Given the description of an element on the screen output the (x, y) to click on. 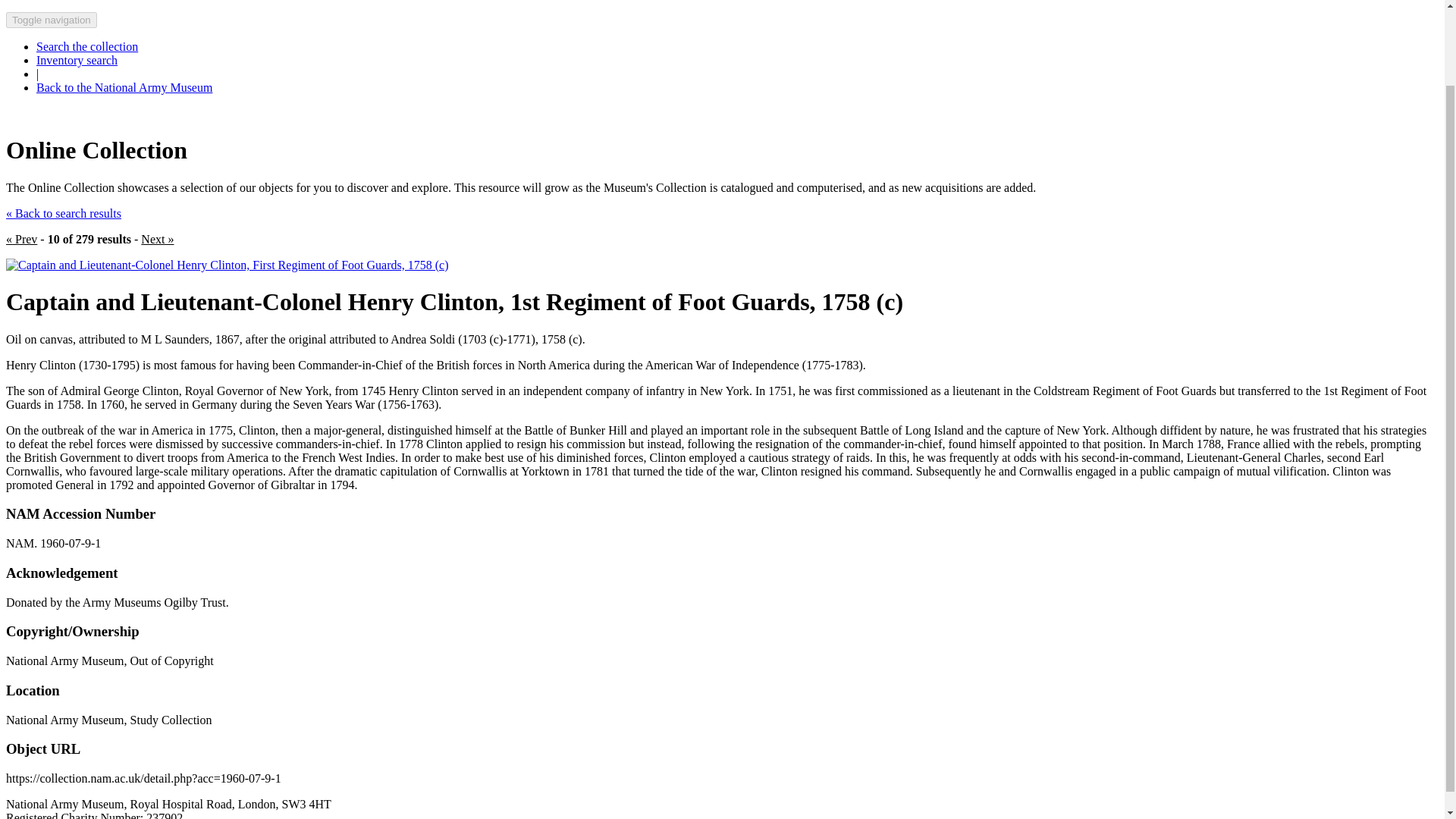
Search the collection (87, 46)
Toggle navigation (51, 19)
Back to the National Army Museum (124, 87)
Inventory search (76, 60)
